Given the description of an element on the screen output the (x, y) to click on. 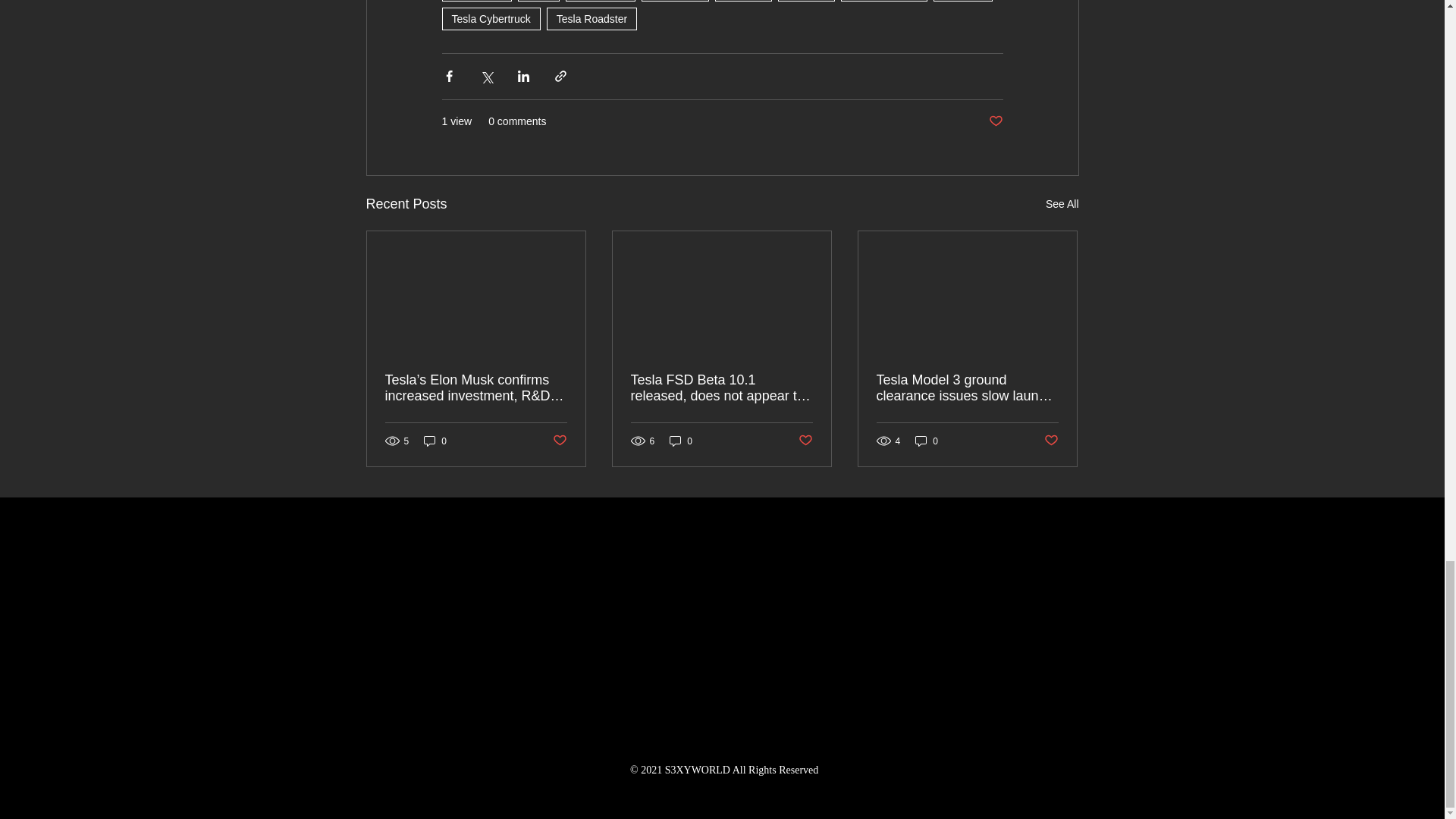
Post not marked as liked (995, 121)
tesla news (600, 0)
s3xyworld (674, 0)
Tesla Roadster (592, 18)
model 3 (743, 0)
s3xy world (476, 0)
Tesla Model Y (884, 0)
model s (805, 0)
tesla (539, 0)
Tesla Cybertruck (490, 18)
